Given the description of an element on the screen output the (x, y) to click on. 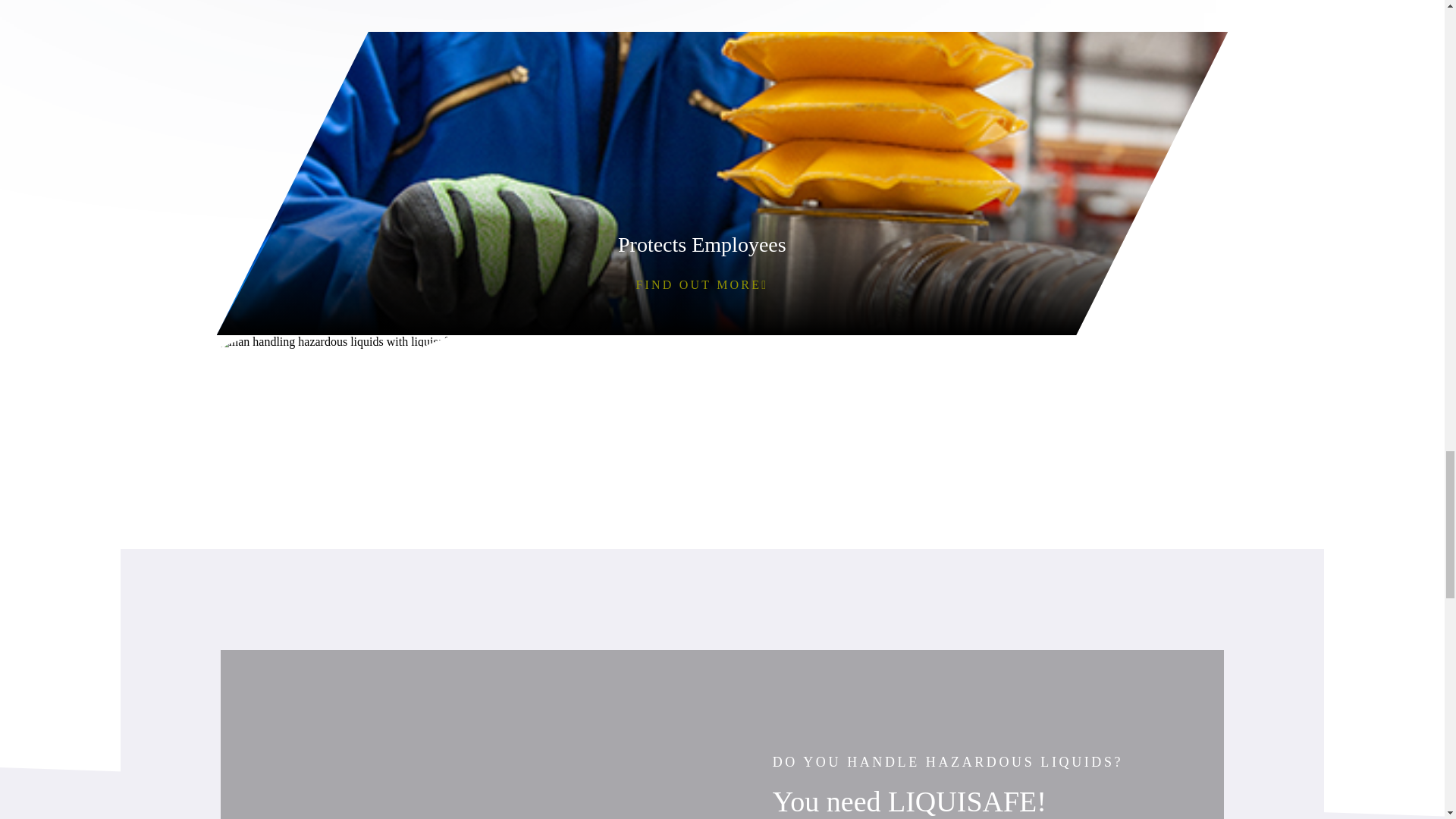
FIND OUT MORE (702, 588)
FIND OUT MORE (702, 285)
